Given the description of an element on the screen output the (x, y) to click on. 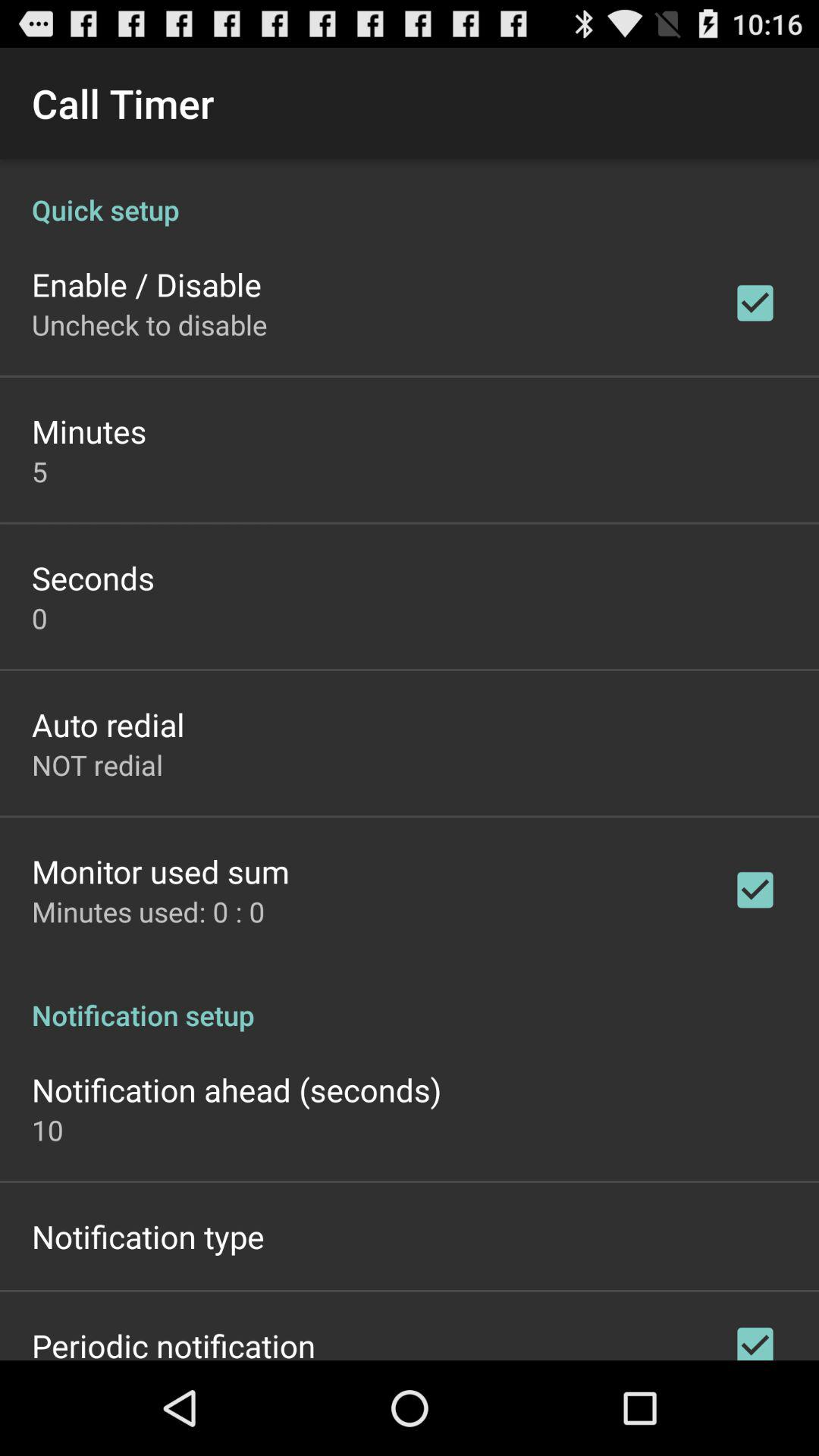
swipe until notification ahead (seconds) (236, 1089)
